Given the description of an element on the screen output the (x, y) to click on. 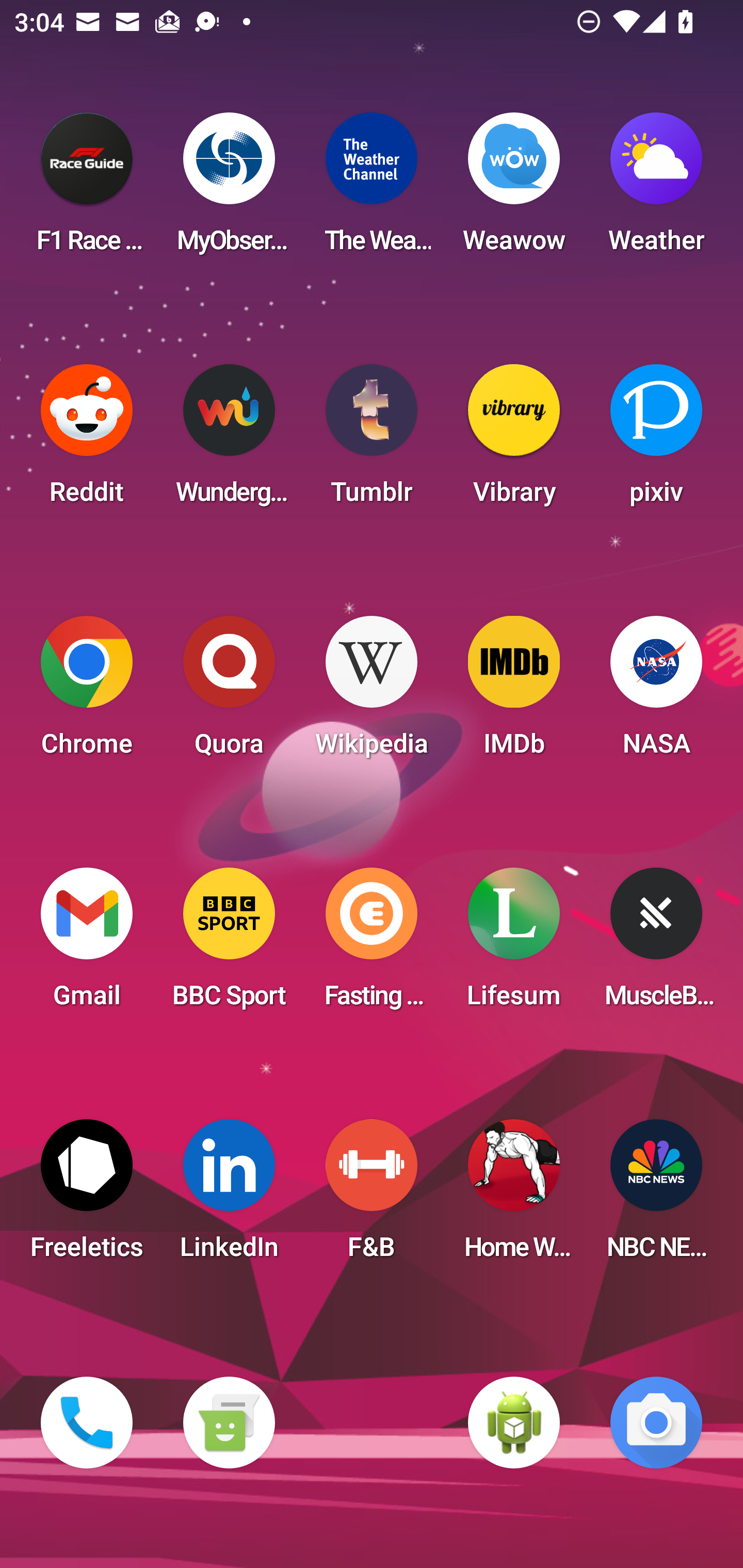
F1 Race Guide (86, 188)
MyObservatory (228, 188)
The Weather Channel (371, 188)
Weawow (513, 188)
Weather (656, 188)
Reddit (86, 440)
Wunderground (228, 440)
Tumblr (371, 440)
Vibrary (513, 440)
pixiv (656, 440)
Chrome (86, 692)
Quora (228, 692)
Wikipedia (371, 692)
IMDb (513, 692)
NASA (656, 692)
Gmail (86, 943)
BBC Sport (228, 943)
Fasting Coach (371, 943)
Lifesum (513, 943)
MuscleBooster (656, 943)
Freeletics (86, 1195)
LinkedIn (228, 1195)
F&B (371, 1195)
Home Workout (513, 1195)
NBC NEWS (656, 1195)
Phone (86, 1422)
Messaging (228, 1422)
WebView Browser Tester (513, 1422)
Camera (656, 1422)
